Given the description of an element on the screen output the (x, y) to click on. 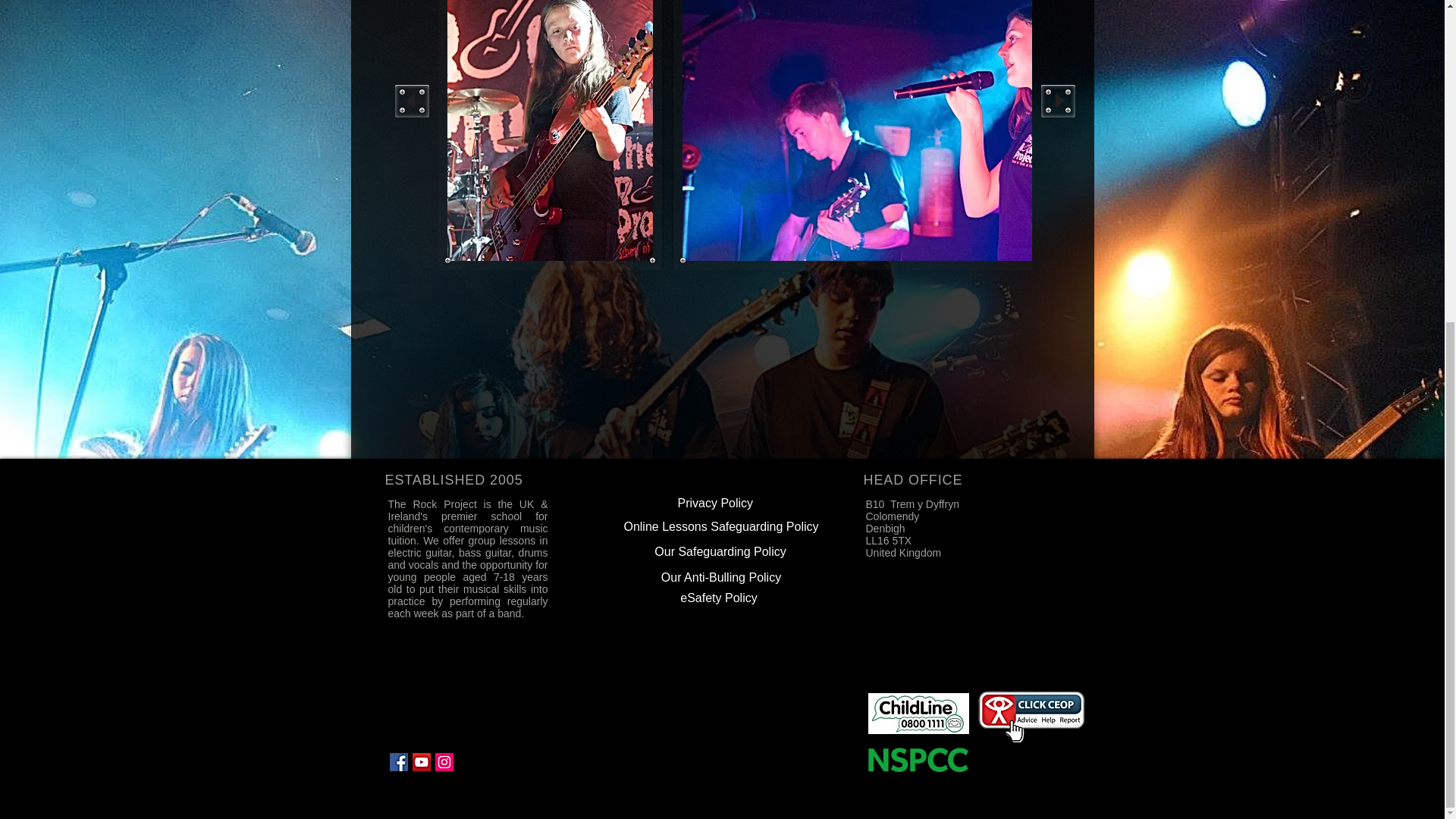
Our Anti-Bulling Policy (720, 576)
Our Safeguarding Policy (719, 551)
Online Lessons Safeguarding Policy (720, 526)
Privacy Policy (716, 502)
eSafety Policy (718, 597)
